Given the description of an element on the screen output the (x, y) to click on. 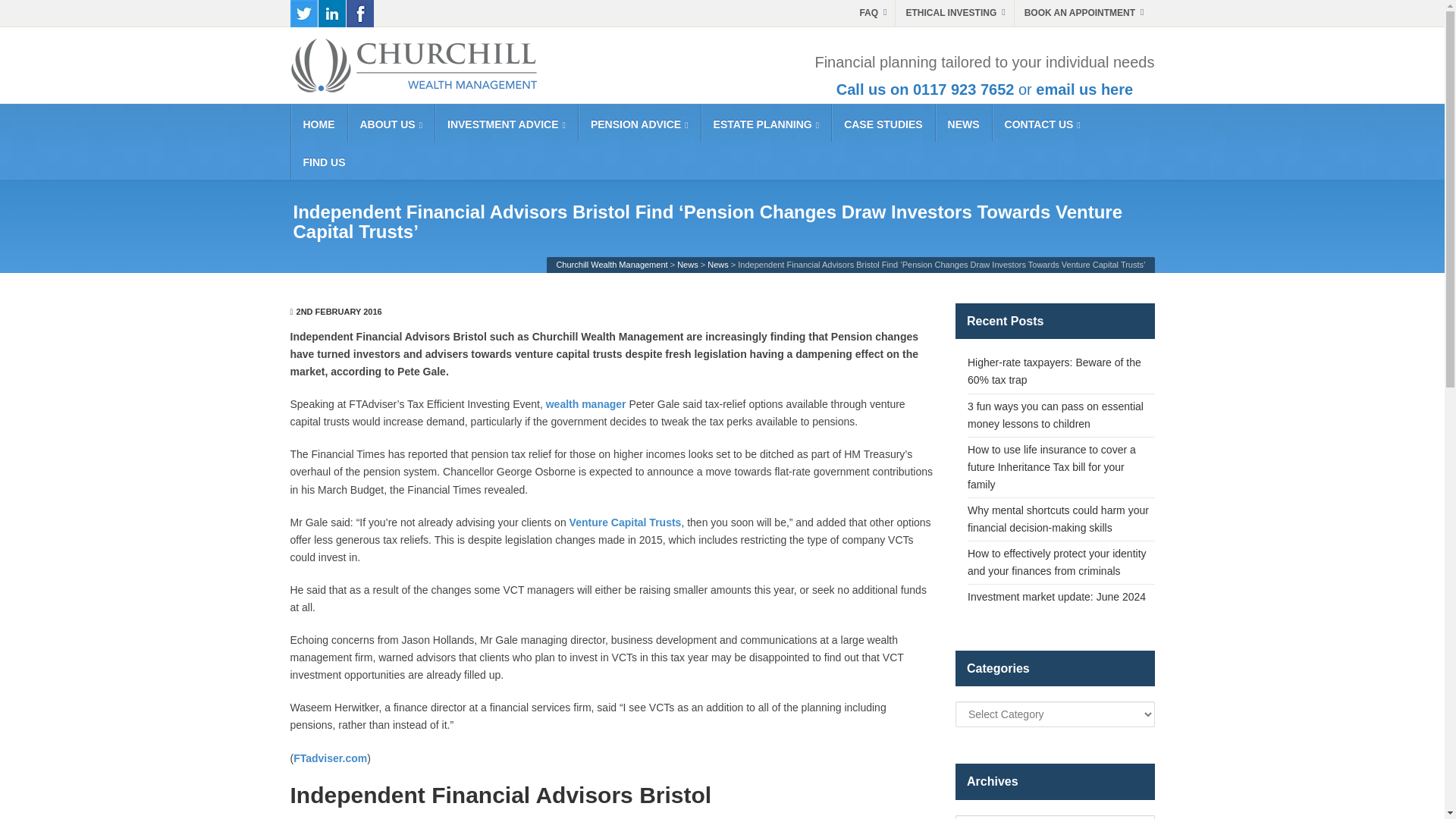
Go to the News category archives. (718, 264)
BOOK AN APPOINTMENT (1086, 13)
ABOUT US (391, 122)
ESTATE PLANNING (766, 122)
FAQ (874, 13)
Go to News. (687, 264)
email us here (1083, 89)
HOME (318, 122)
Go to Churchill Wealth Management. (611, 264)
PENSION ADVICE (639, 122)
ETHICAL INVESTING (957, 13)
Call us on 0117 923 7652 (924, 89)
INVESTMENT ADVICE (505, 122)
